Given the description of an element on the screen output the (x, y) to click on. 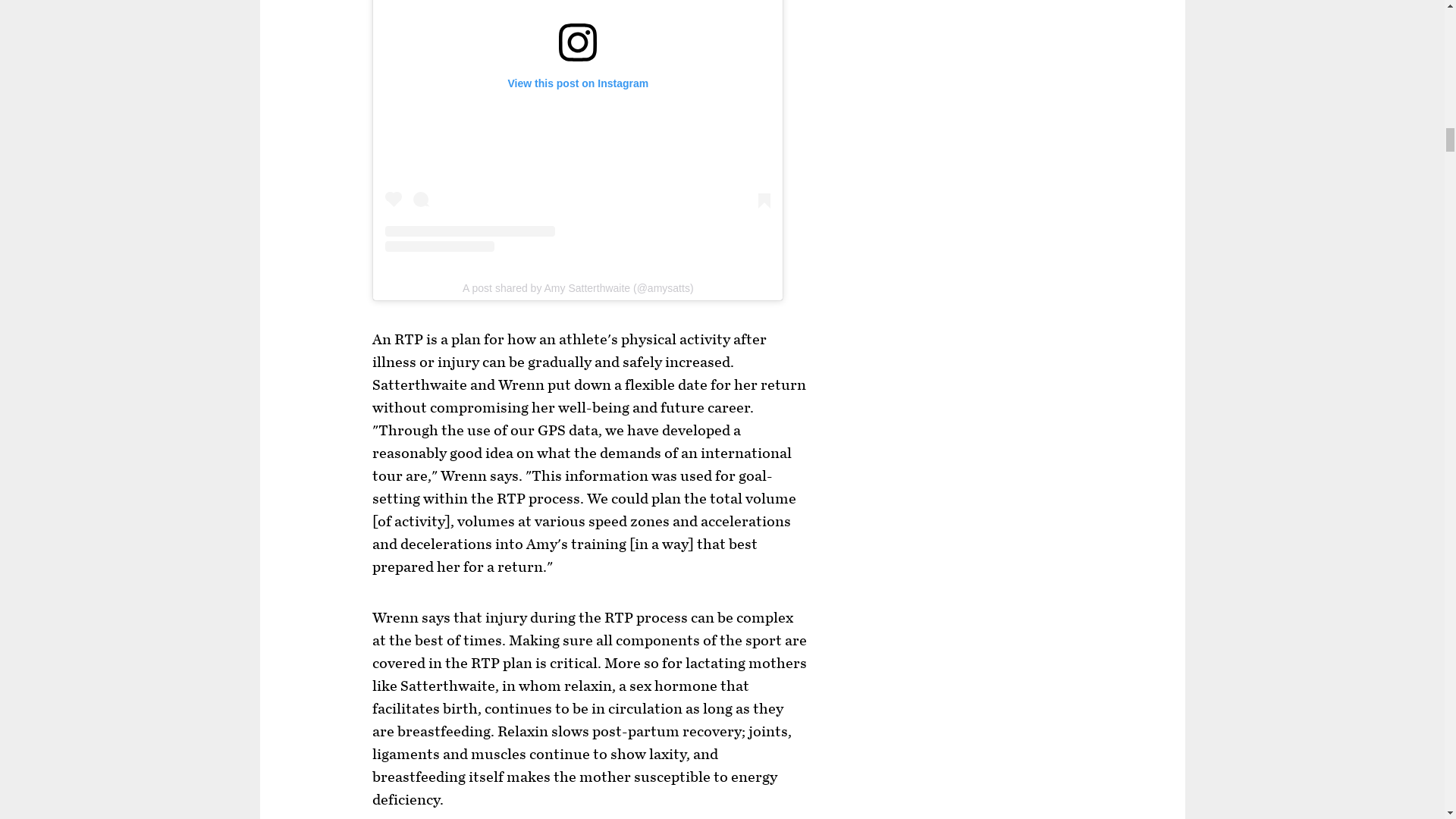
View this post on Instagram (577, 125)
